Given the description of an element on the screen output the (x, y) to click on. 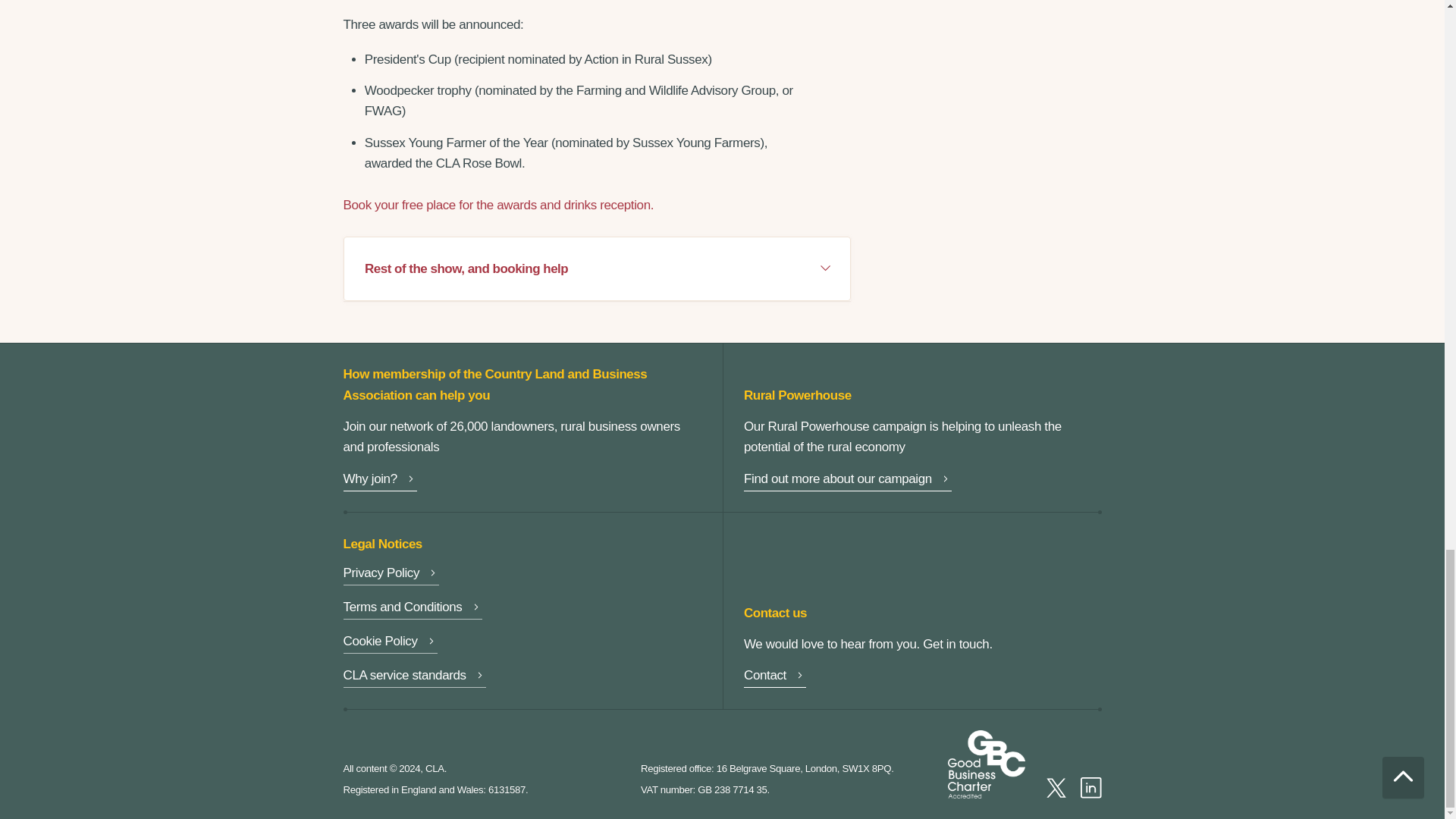
Contact (775, 677)
Find out more about our campaign (848, 480)
Cookie Policy (389, 643)
Book your free place for the awards and drinks reception. (497, 205)
CLA service standards (413, 677)
Privacy Policy (390, 575)
Why join? (379, 480)
Terms and Conditions (411, 608)
